Given the description of an element on the screen output the (x, y) to click on. 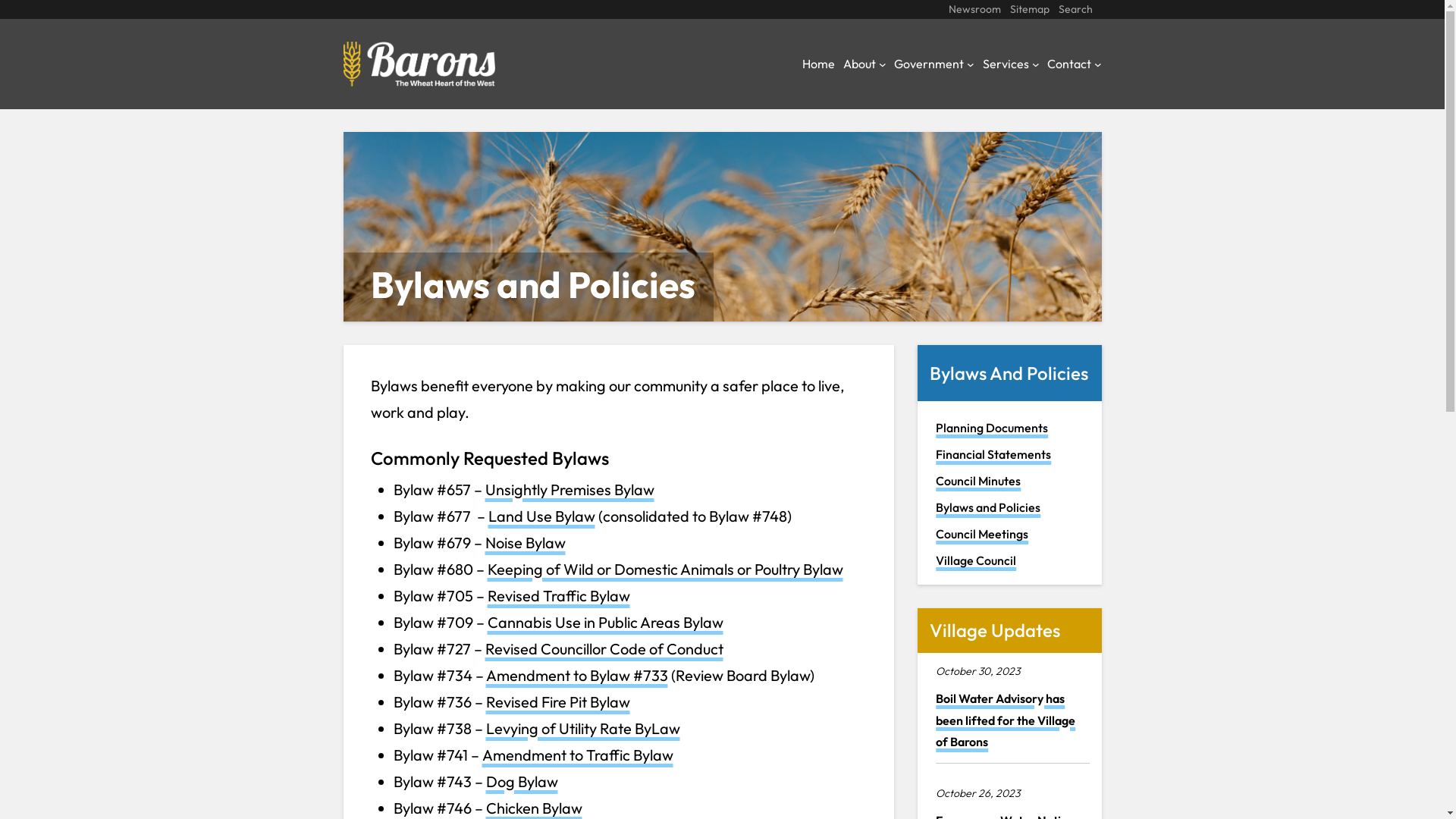
Dog Bylaw Element type: text (521, 780)
Unsightly Premises Bylaw Element type: text (569, 489)
Cannabis Use in Public Areas Bylaw Element type: text (604, 621)
Council Minutes Element type: text (977, 480)
Revised Fire Pit Bylaw Element type: text (557, 701)
Noise Bylaw Element type: text (525, 542)
Village Council Element type: text (975, 559)
Chicken Bylaw Element type: text (533, 807)
Search Element type: text (1075, 9)
Land Use Bylaw Element type: text (541, 515)
Amendment to Bylaw #733 Element type: text (576, 674)
Bylaws and Policies Element type: text (987, 506)
Keeping of Wild or Domestic Animals or Poultry Bylaw Element type: text (664, 568)
Planning Documents Element type: text (991, 427)
Revised Traffic Bylaw Element type: text (557, 595)
Home Element type: text (818, 63)
Financial Statements Element type: text (993, 453)
Sitemap Element type: text (1029, 9)
Council Meetings Element type: text (981, 533)
Revised Councillor Code of Conduct Element type: text (604, 648)
Levying of Utility Rate ByLaw Element type: text (582, 727)
Services Element type: text (1005, 63)
Newsroom Element type: text (973, 9)
Contact Element type: text (1069, 63)
Government Element type: text (928, 63)
About Element type: text (859, 63)
Amendment to Traffic Bylaw Element type: text (577, 754)
